Given the description of an element on the screen output the (x, y) to click on. 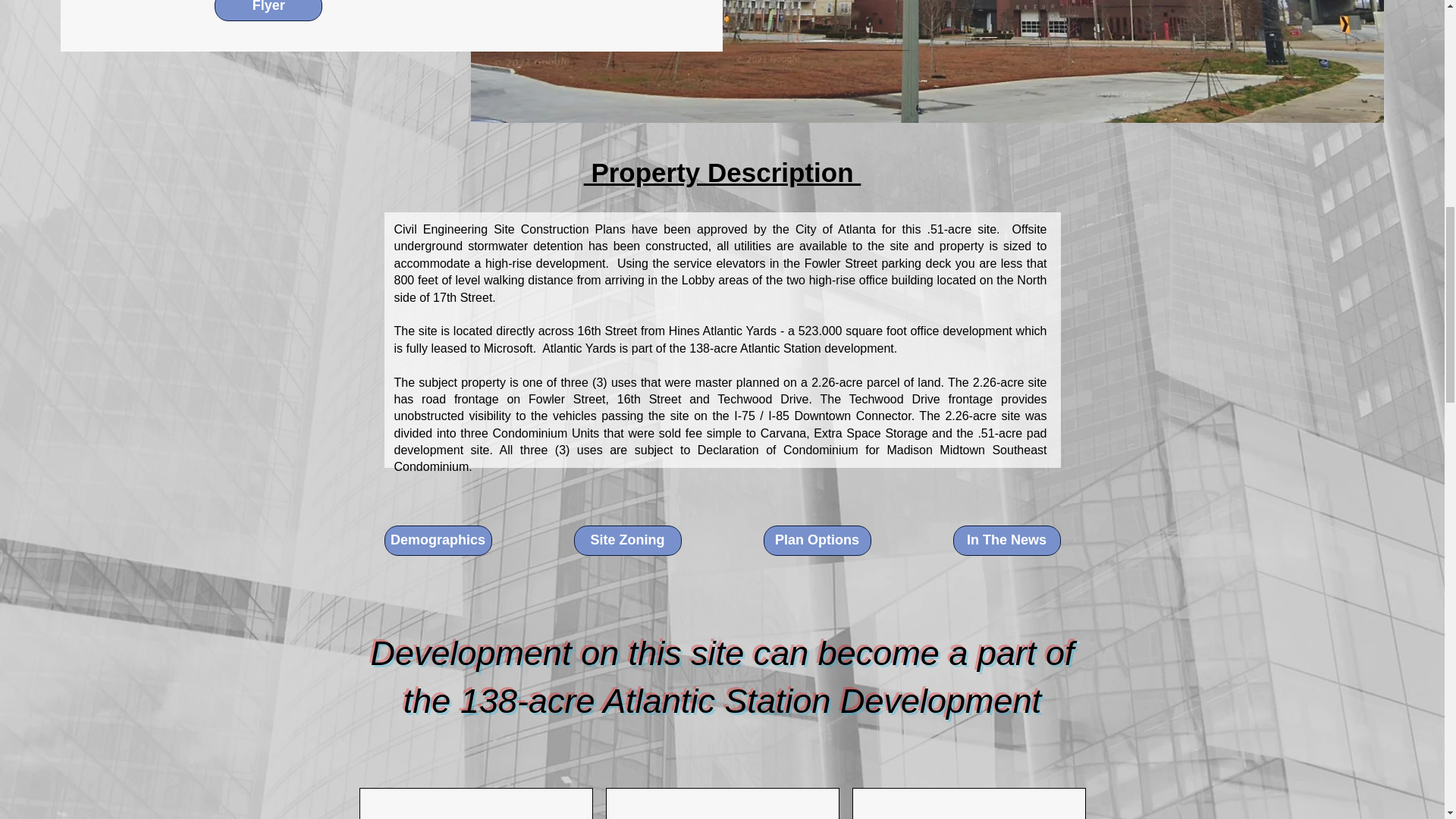
In The News (1005, 540)
Plan Options (816, 540)
Flyer (267, 10)
Demographics (438, 540)
Site Zoning (627, 540)
